Given the description of an element on the screen output the (x, y) to click on. 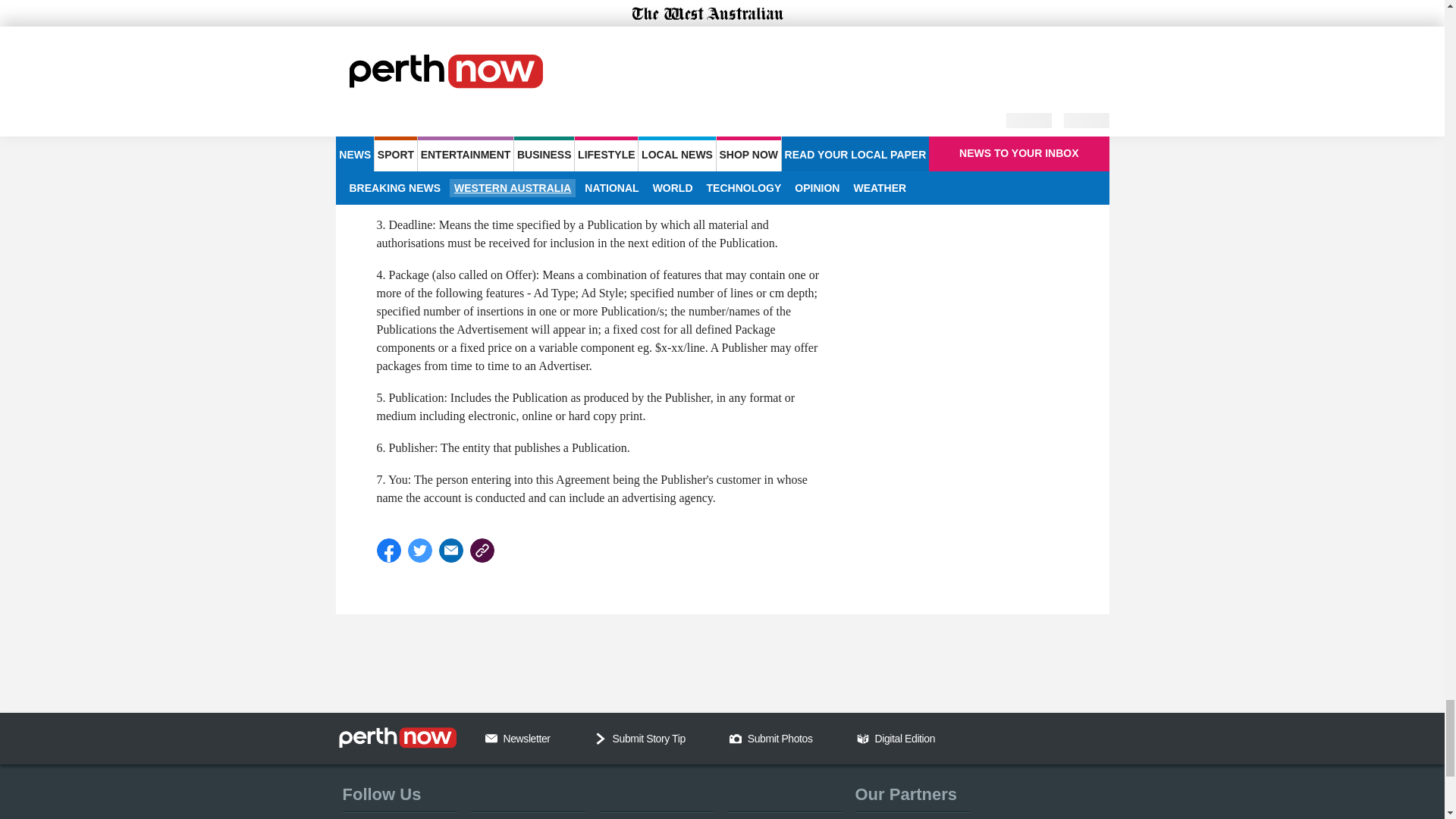
Get Digital Edition (863, 738)
Camera Icon (735, 738)
Chevron Down Icon (600, 738)
Email Us (490, 738)
